Given the description of an element on the screen output the (x, y) to click on. 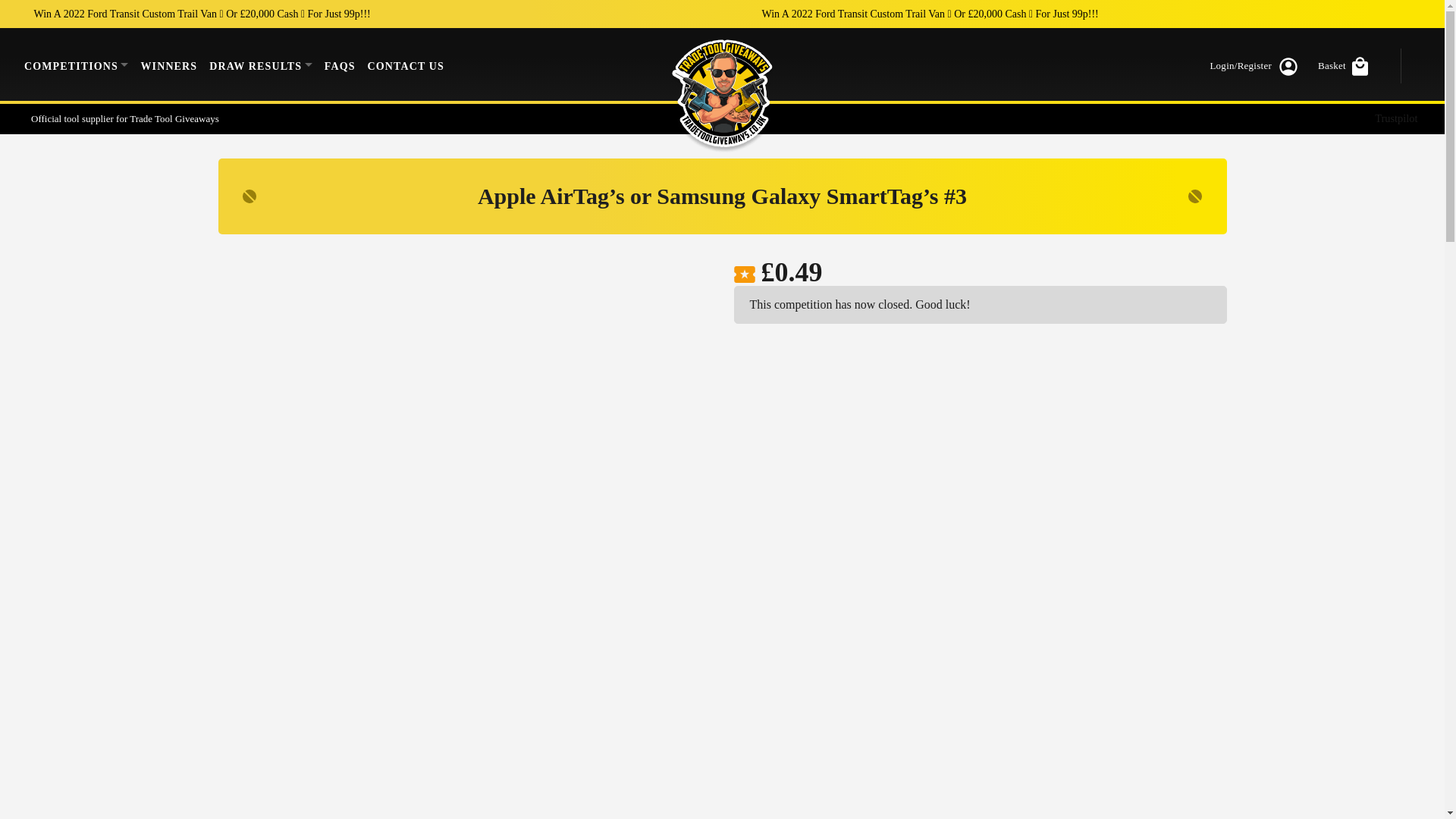
FAQS (339, 65)
DRAW RESULTS (260, 65)
WINNERS (168, 65)
Basket (1345, 65)
COMPETITIONS (75, 65)
CONTACT US (405, 65)
Official tool supplier for Trade Tool Giveaways (121, 118)
